Given the description of an element on the screen output the (x, y) to click on. 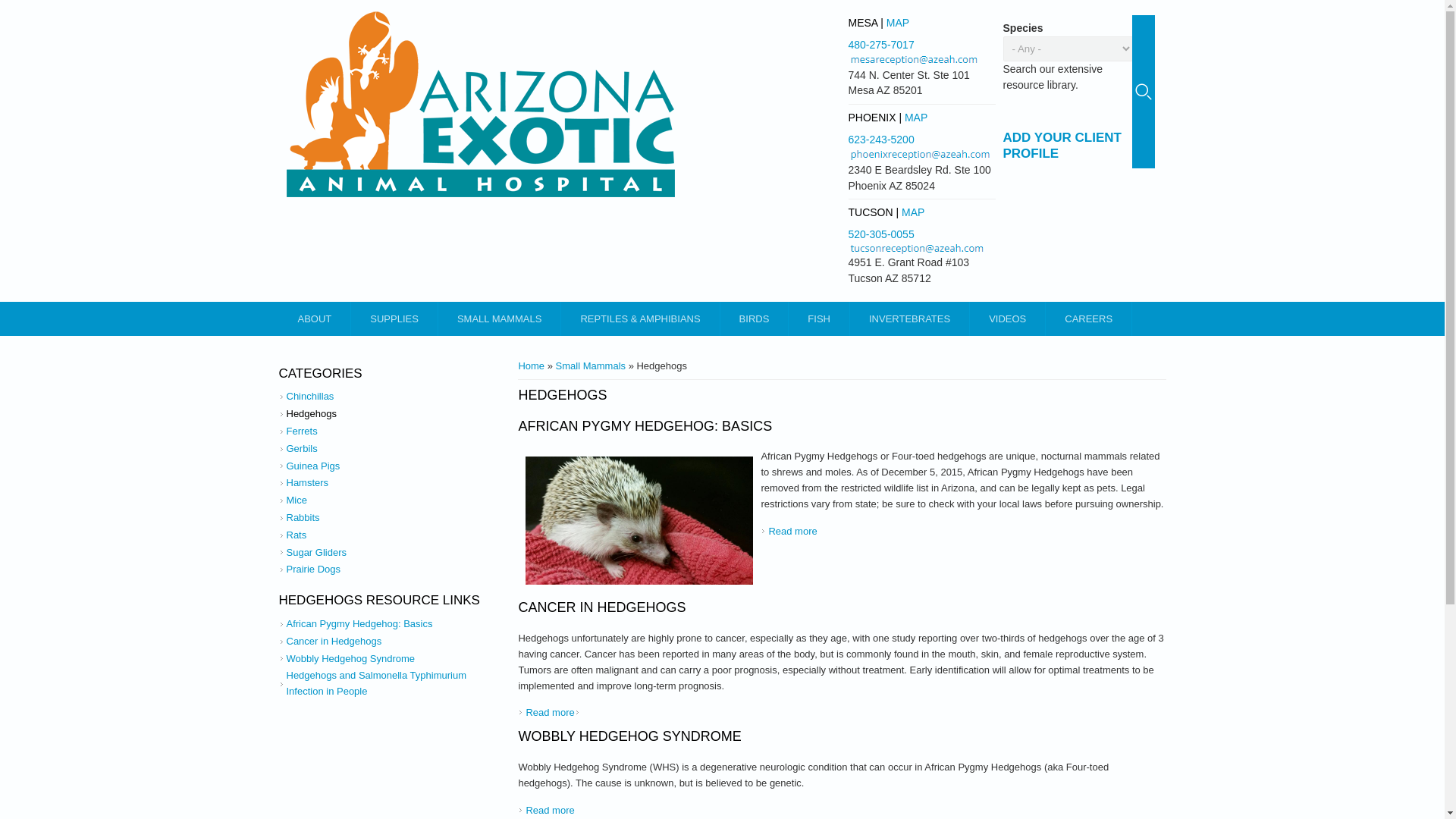
MAP (912, 212)
Home (480, 104)
Food, dietary supplements and supplies for your exotic pets. (394, 318)
ABOUT (315, 318)
480-275-7017 (880, 44)
SUPPLIES (394, 318)
ADD YOUR CLIENT PROFILE (1062, 145)
Small Mammals (500, 318)
SMALL MAMMALS (500, 318)
MAP (897, 22)
520-305-0055 (880, 234)
623-243-5200 (880, 139)
MAP (915, 117)
